Given the description of an element on the screen output the (x, y) to click on. 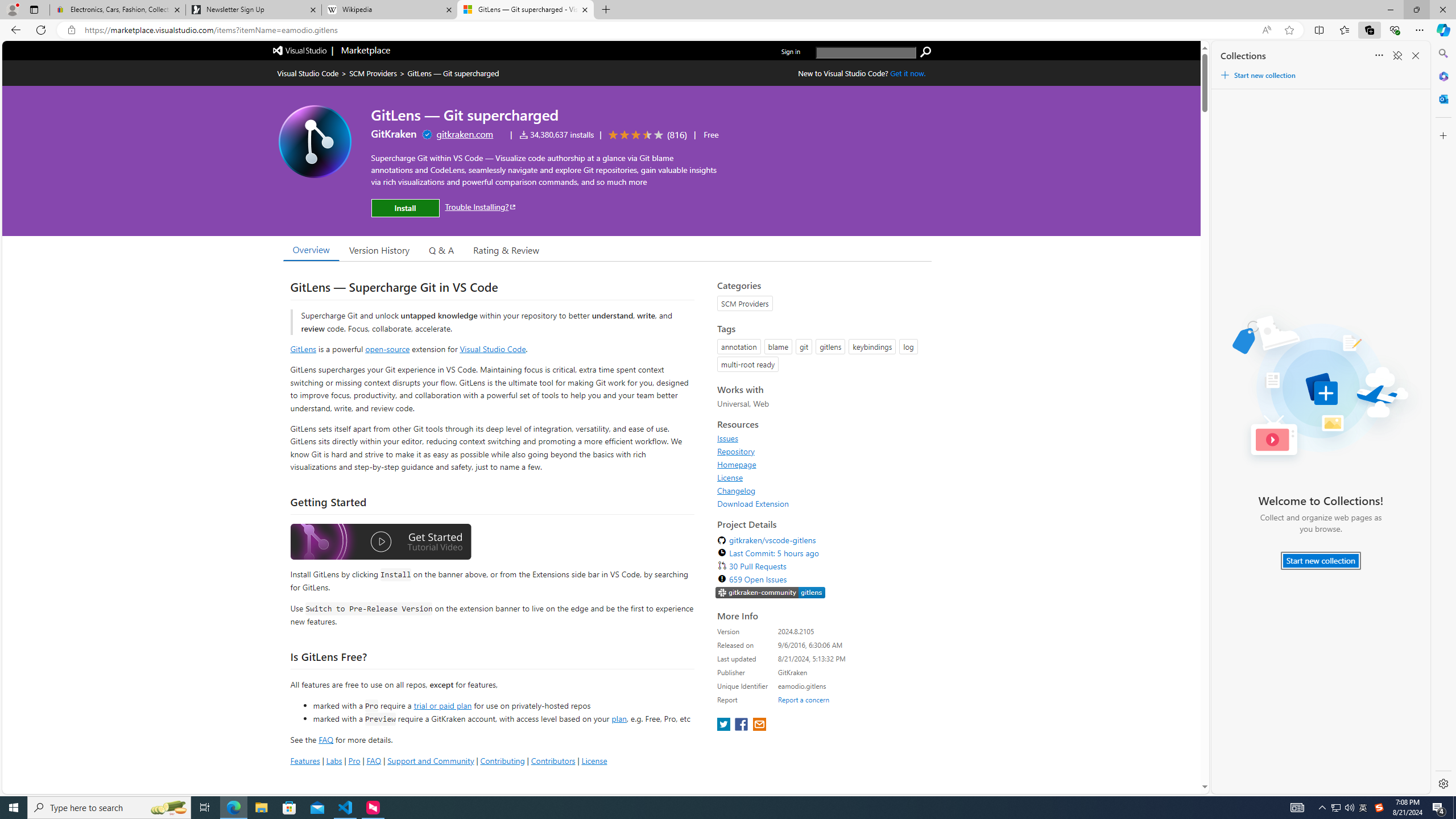
Features (304, 760)
Issues (820, 437)
Changelog (820, 490)
Version History (379, 249)
License (729, 477)
Install (405, 208)
Overview (310, 249)
